Given the description of an element on the screen output the (x, y) to click on. 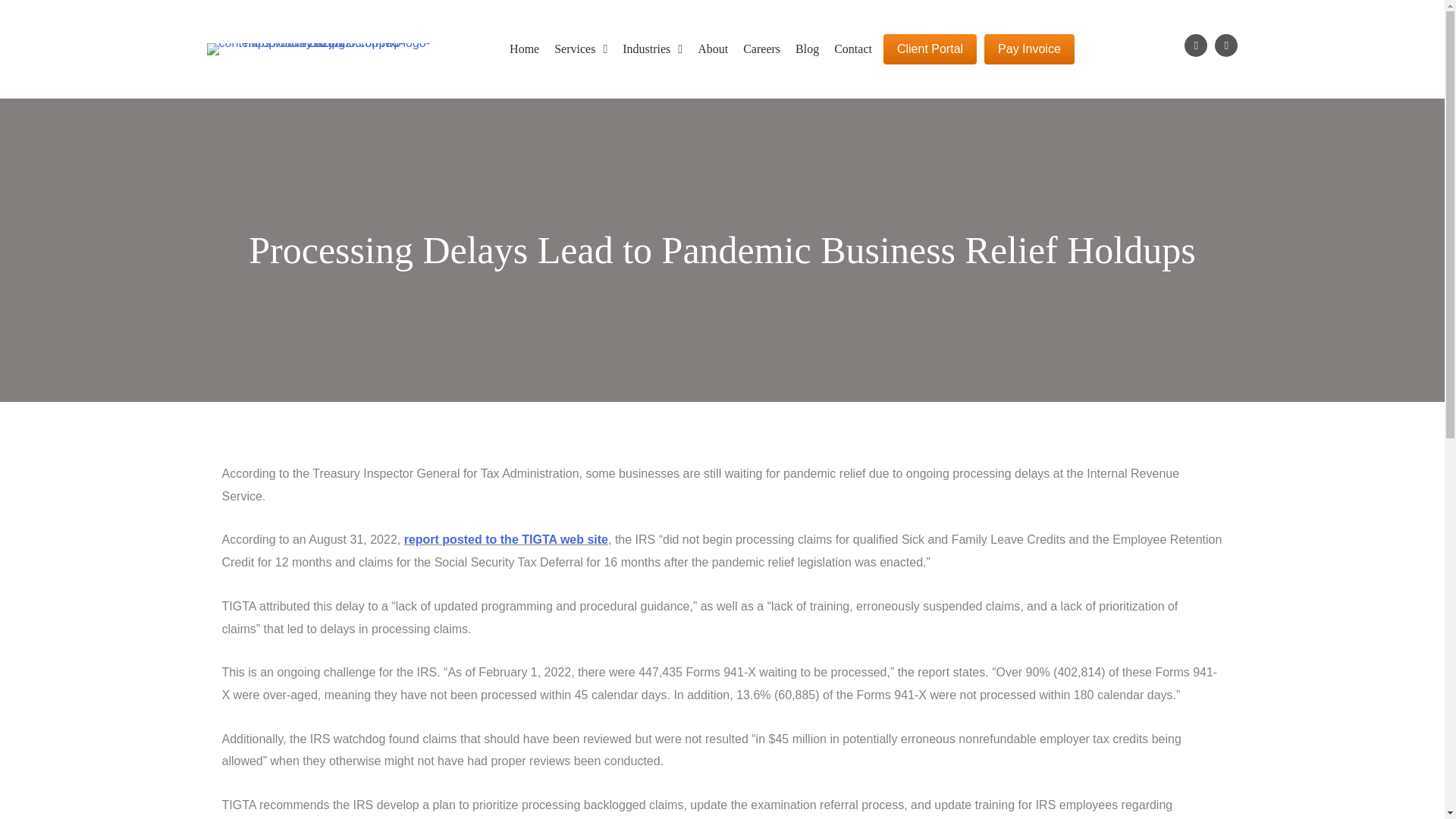
Contact (852, 49)
Careers (761, 49)
cropped-logo-final.jpg (317, 49)
Pay Invoice (1029, 49)
Services (580, 49)
Client Portal (929, 49)
About (713, 49)
Blog (807, 49)
Home (524, 49)
report posted to the TIGTA web site (506, 539)
